Given the description of an element on the screen output the (x, y) to click on. 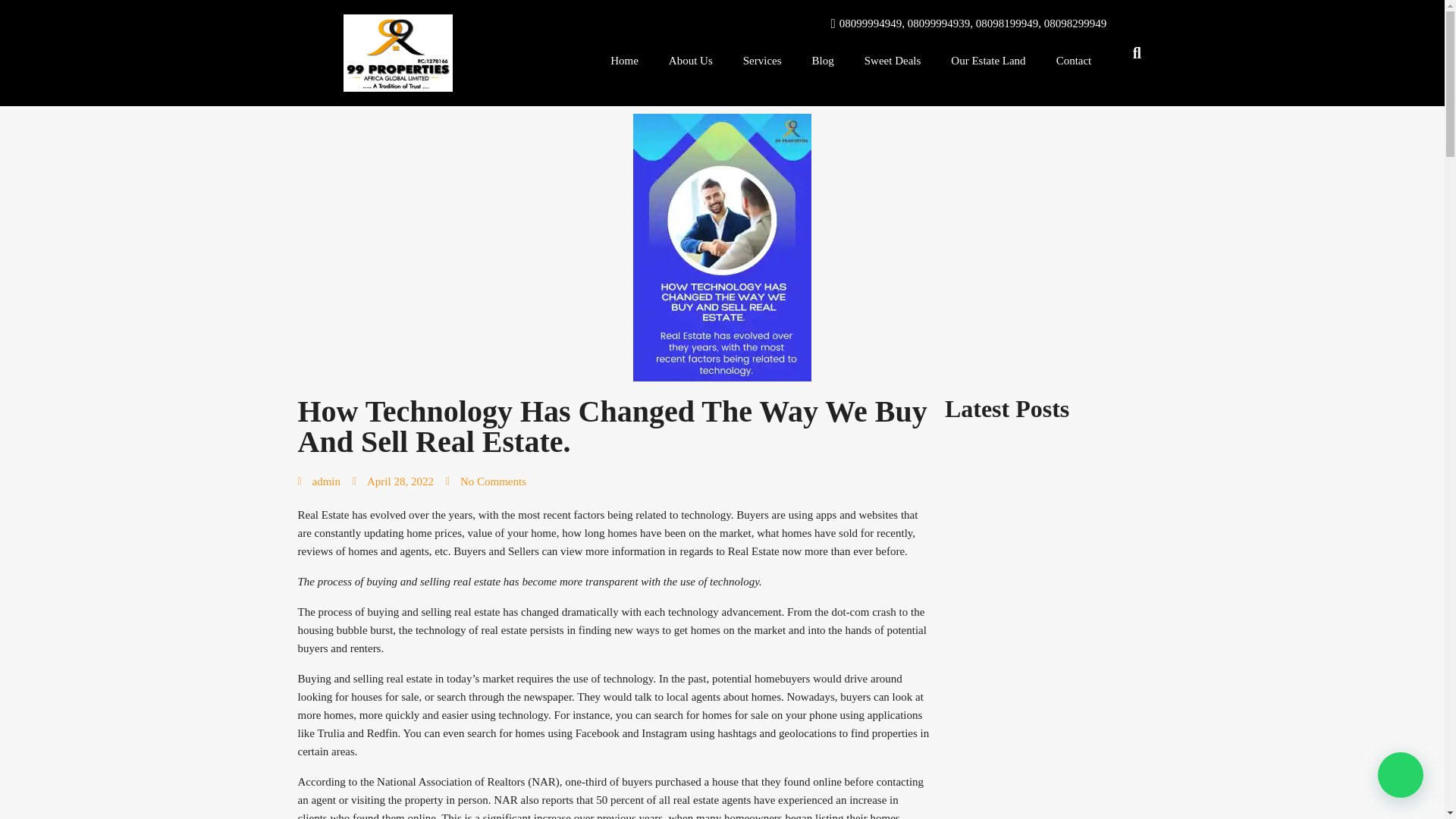
Blog (822, 60)
About Us (690, 60)
2efce6cd-b4e8-45eb-9ea1-93e8c4897068 (721, 247)
No Comments (485, 481)
Contact (1073, 60)
Sweet Deals (892, 60)
Our Estate Land (988, 60)
Services (762, 60)
admin (318, 481)
April 28, 2022 (392, 481)
Home (624, 60)
